Given the description of an element on the screen output the (x, y) to click on. 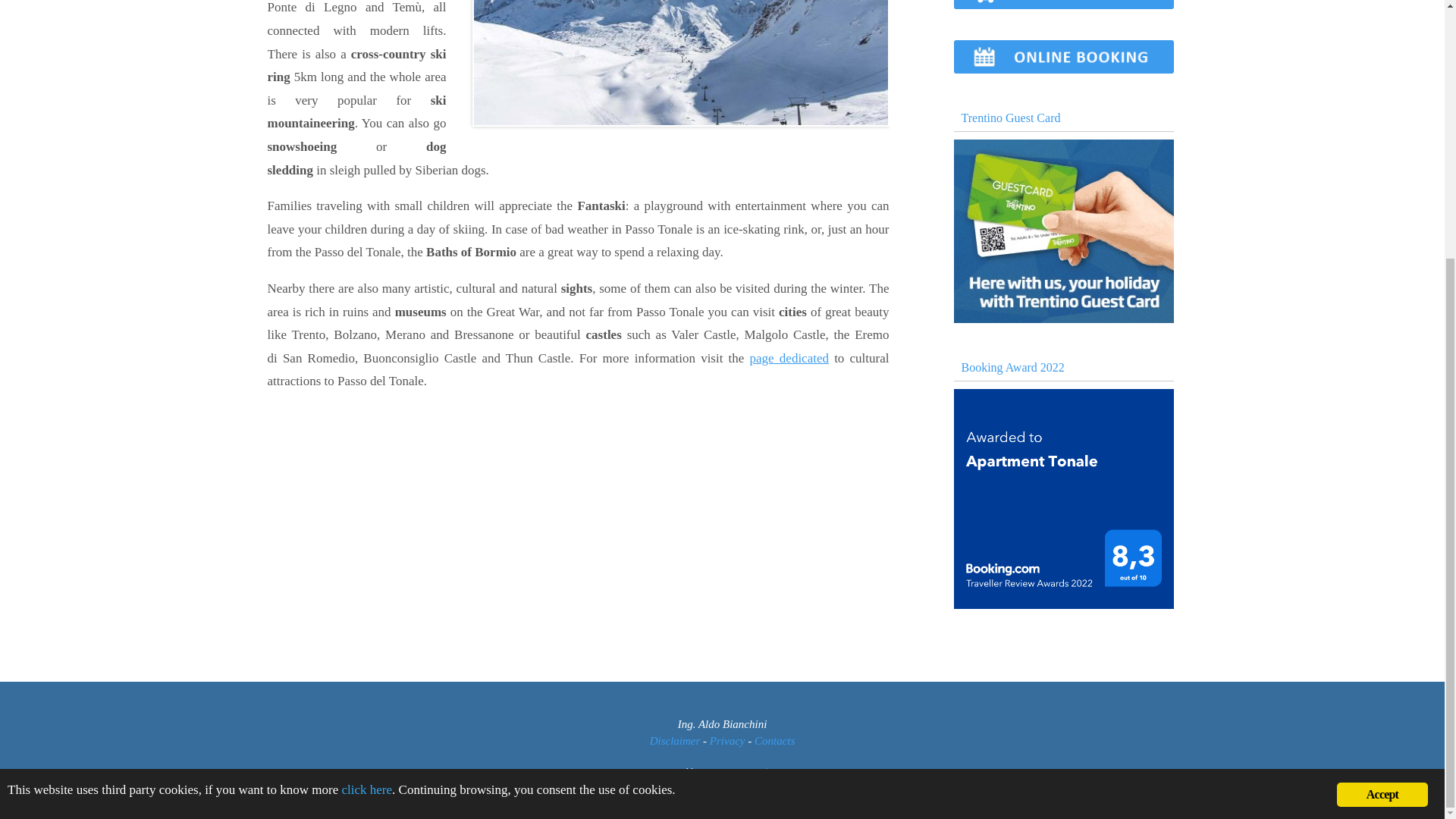
Privacy (367, 420)
Accept (1382, 425)
Nirvana Theme by Cryout Creations (718, 771)
Contatti (774, 740)
page dedicated (788, 358)
Nirvana (718, 771)
Online booking (1063, 68)
Special offers (1063, 6)
Privacy (727, 740)
Semantic Personal Publishing Platform (769, 771)
